Given the description of an element on the screen output the (x, y) to click on. 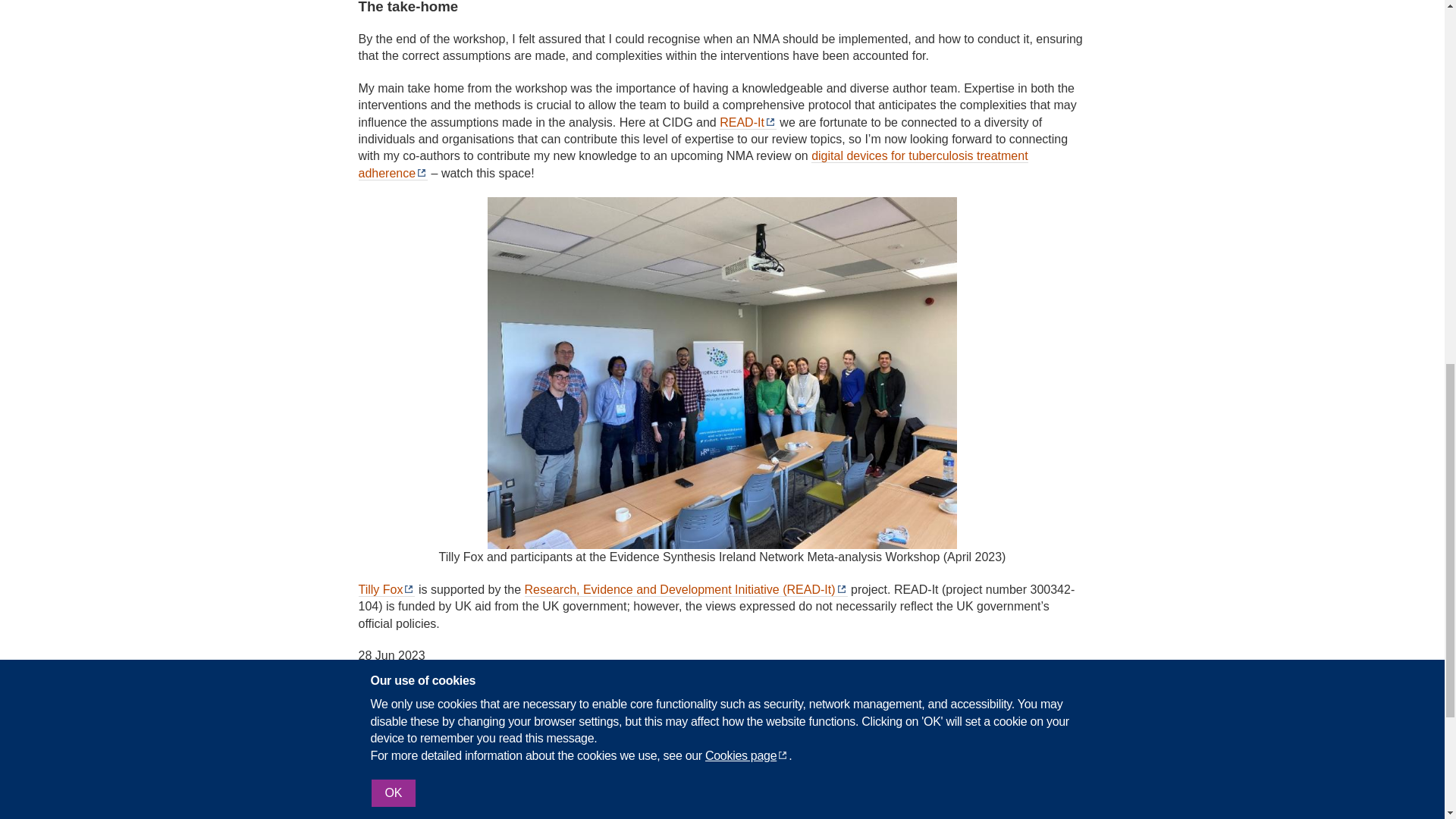
About Cochrane (494, 799)
FCDO (539, 720)
digital devices for tuberculosis treatment adherence (692, 164)
READ-It (903, 728)
Tilly Fox (386, 590)
Publications (664, 799)
READ-It (747, 122)
WHO (721, 718)
